Given the description of an element on the screen output the (x, y) to click on. 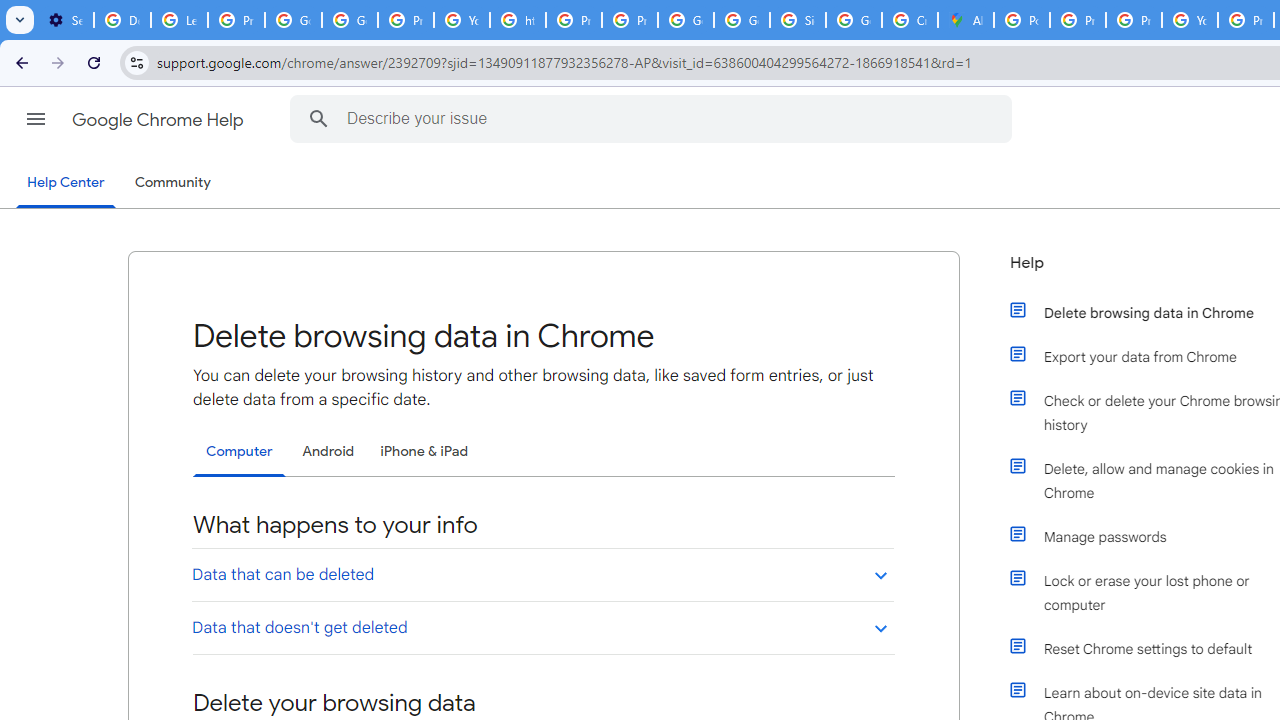
Data that doesn't get deleted (542, 627)
Main menu (35, 119)
Privacy Help Center - Policies Help (573, 20)
Policy Accountability and Transparency - Transparency Center (1021, 20)
Google Account Help (293, 20)
Learn how to find your photos - Google Photos Help (179, 20)
https://scholar.google.com/ (518, 20)
Search Help Center (318, 118)
